Given the description of an element on the screen output the (x, y) to click on. 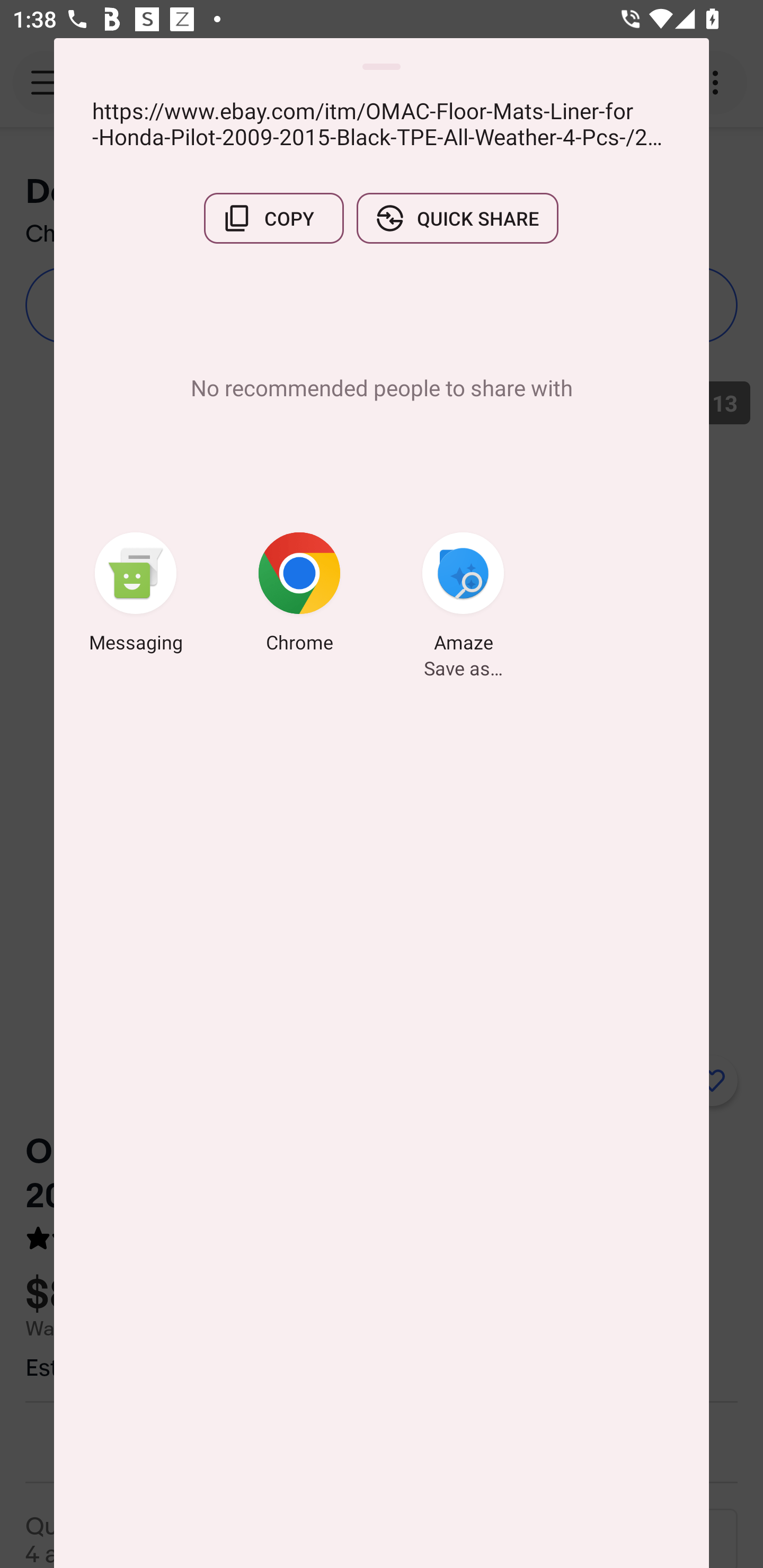
COPY (273, 218)
QUICK SHARE (457, 218)
Messaging (135, 594)
Chrome (299, 594)
Amaze Save as… (463, 594)
